Given the description of an element on the screen output the (x, y) to click on. 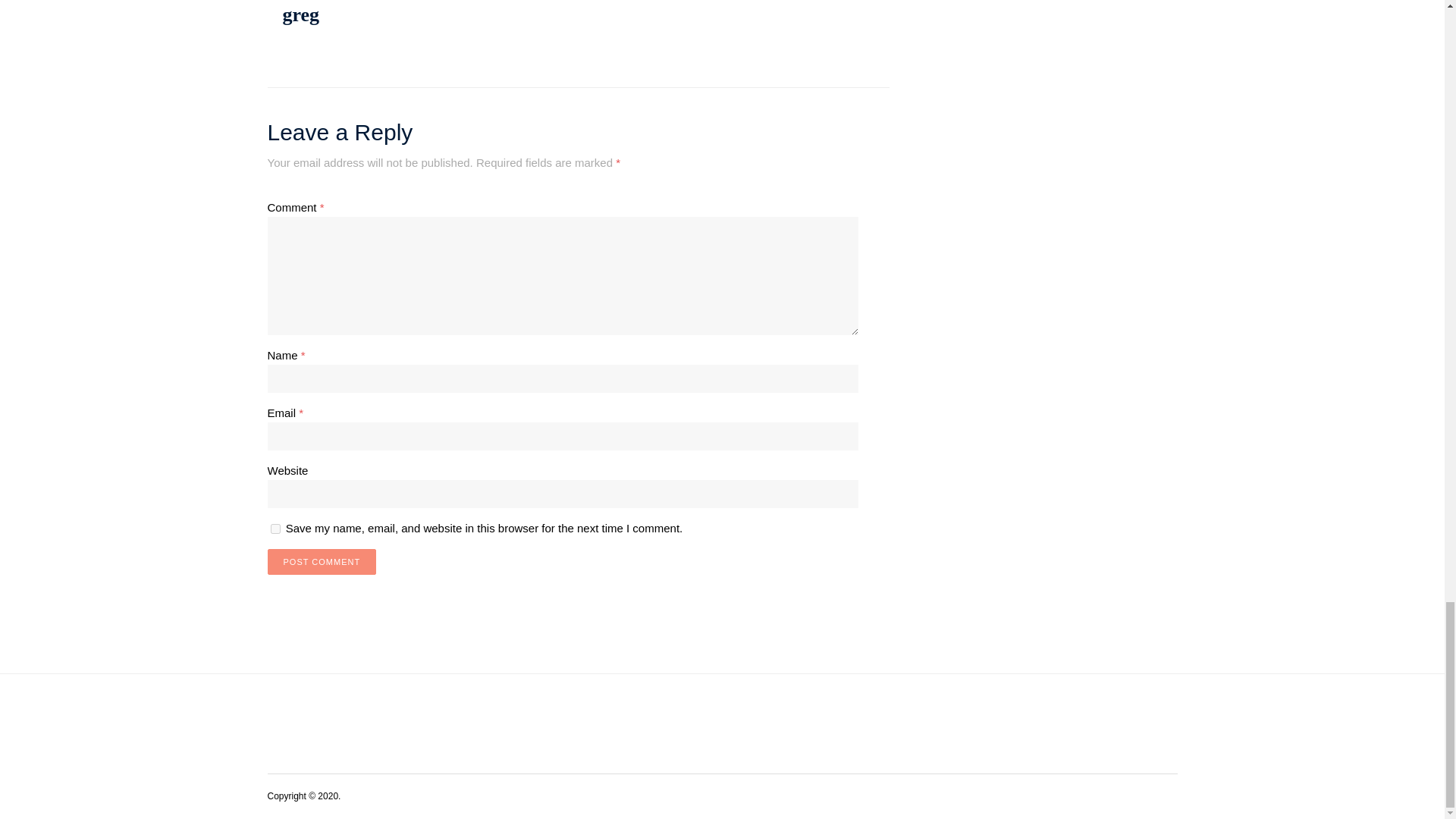
Post Comment (320, 561)
greg (300, 14)
Post Comment (320, 561)
yes (274, 528)
